Given the description of an element on the screen output the (x, y) to click on. 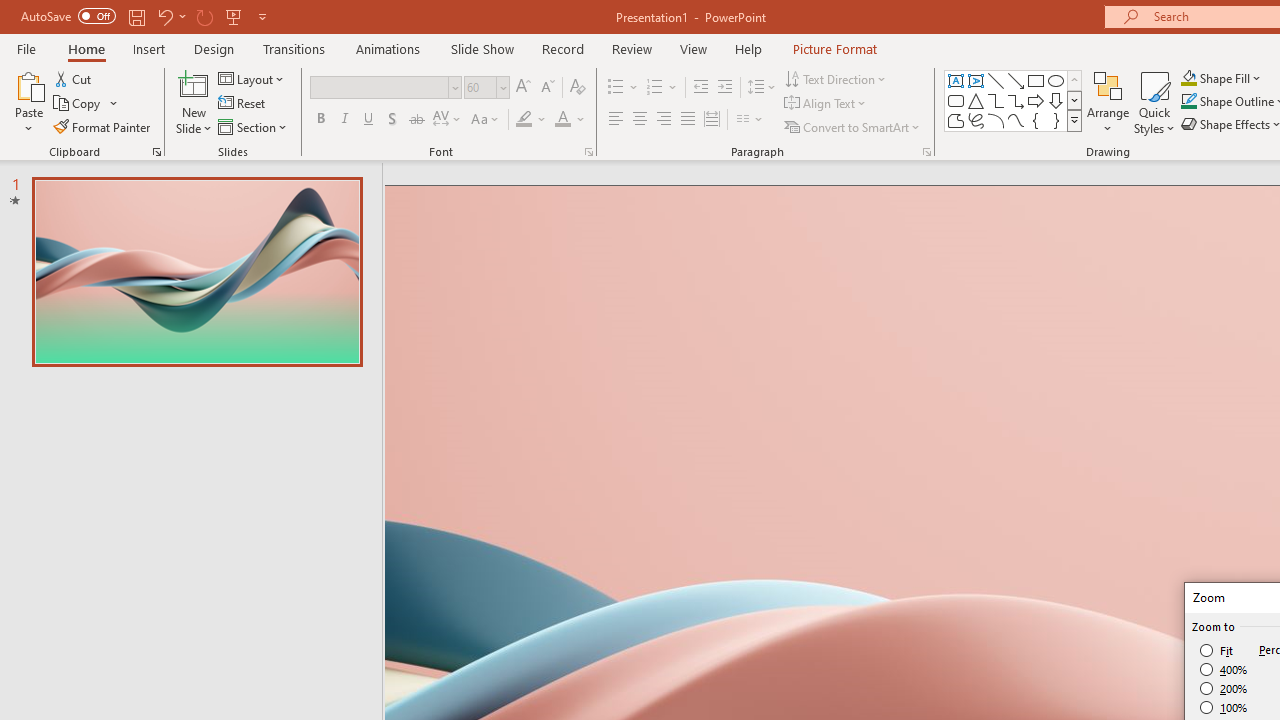
Increase Indent (725, 87)
Justify (687, 119)
Line (995, 80)
Paste (28, 102)
Center (639, 119)
Character Spacing (447, 119)
Font Color Red (562, 119)
Cut (73, 78)
Open (502, 87)
Shadow (392, 119)
Text Highlight Color (531, 119)
Change Case (486, 119)
